Given the description of an element on the screen output the (x, y) to click on. 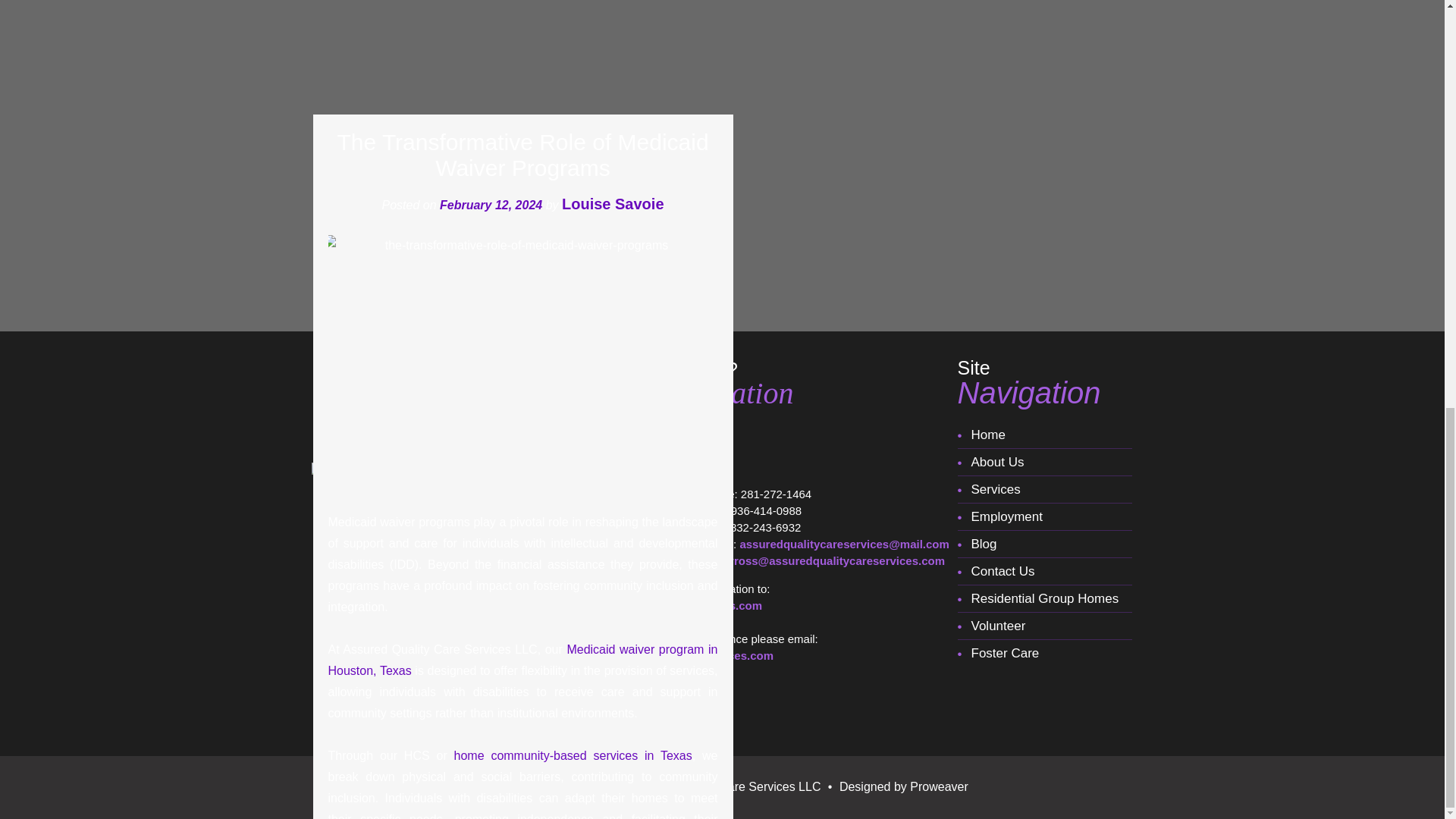
home community-based services in Texas (573, 754)
February 12, 2024 (490, 204)
Home (1043, 434)
Medicaid waiver program in Houston, Texas (522, 659)
Louise Savoie (612, 202)
Services (1043, 489)
About Us (1043, 461)
12:00 am (490, 204)
Employment (1043, 516)
Blog (1043, 543)
View all posts by Louise Savoie (612, 202)
